Given the description of an element on the screen output the (x, y) to click on. 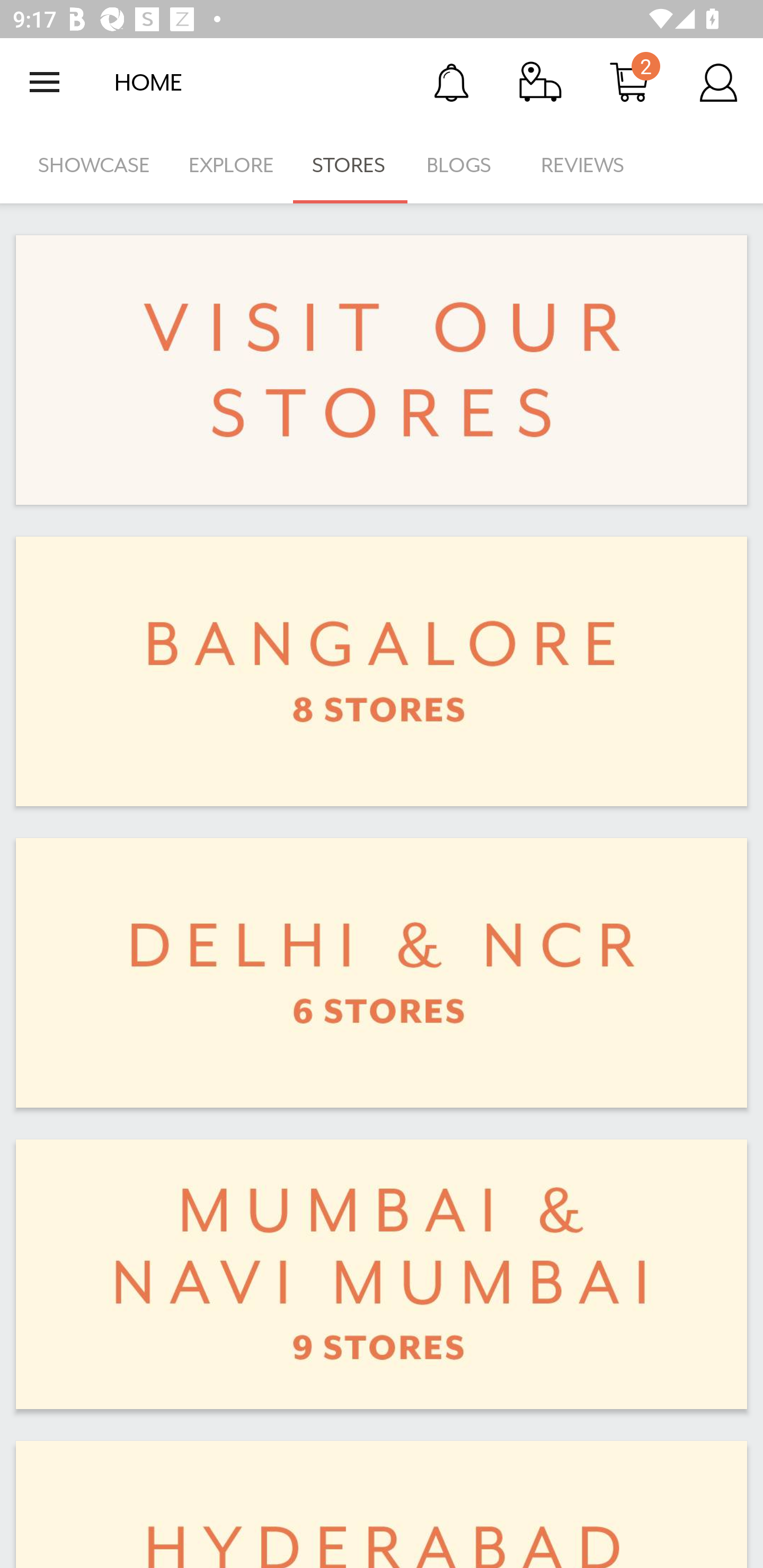
Open navigation drawer (44, 82)
Notification (450, 81)
Track Order (540, 81)
Cart (629, 81)
Account Details (718, 81)
SHOWCASE (94, 165)
EXPLORE (230, 165)
STORES (349, 165)
BLOGS (464, 165)
REVIEWS (582, 165)
